Given the description of an element on the screen output the (x, y) to click on. 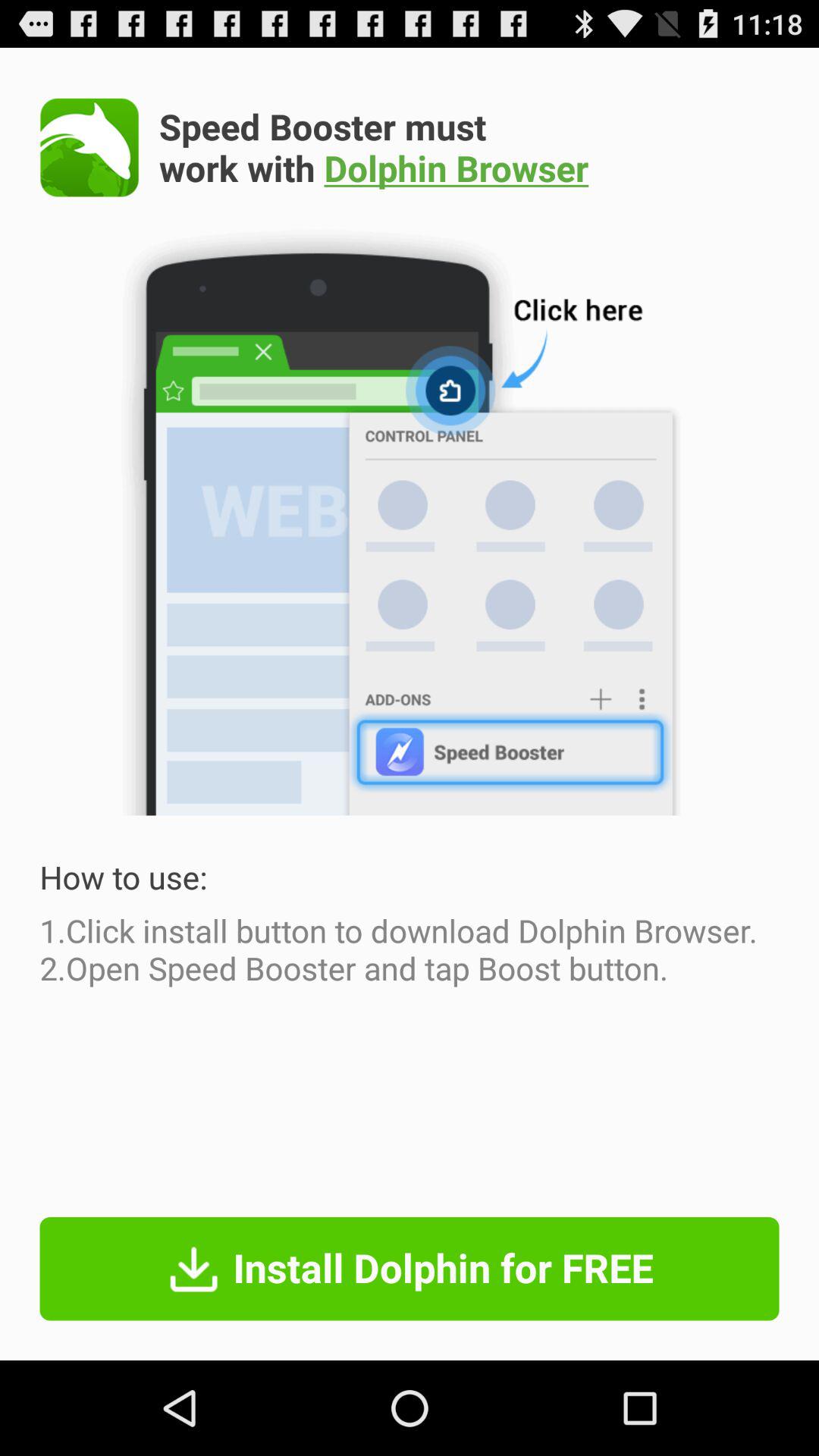
select app next to speed booster must (89, 147)
